Given the description of an element on the screen output the (x, y) to click on. 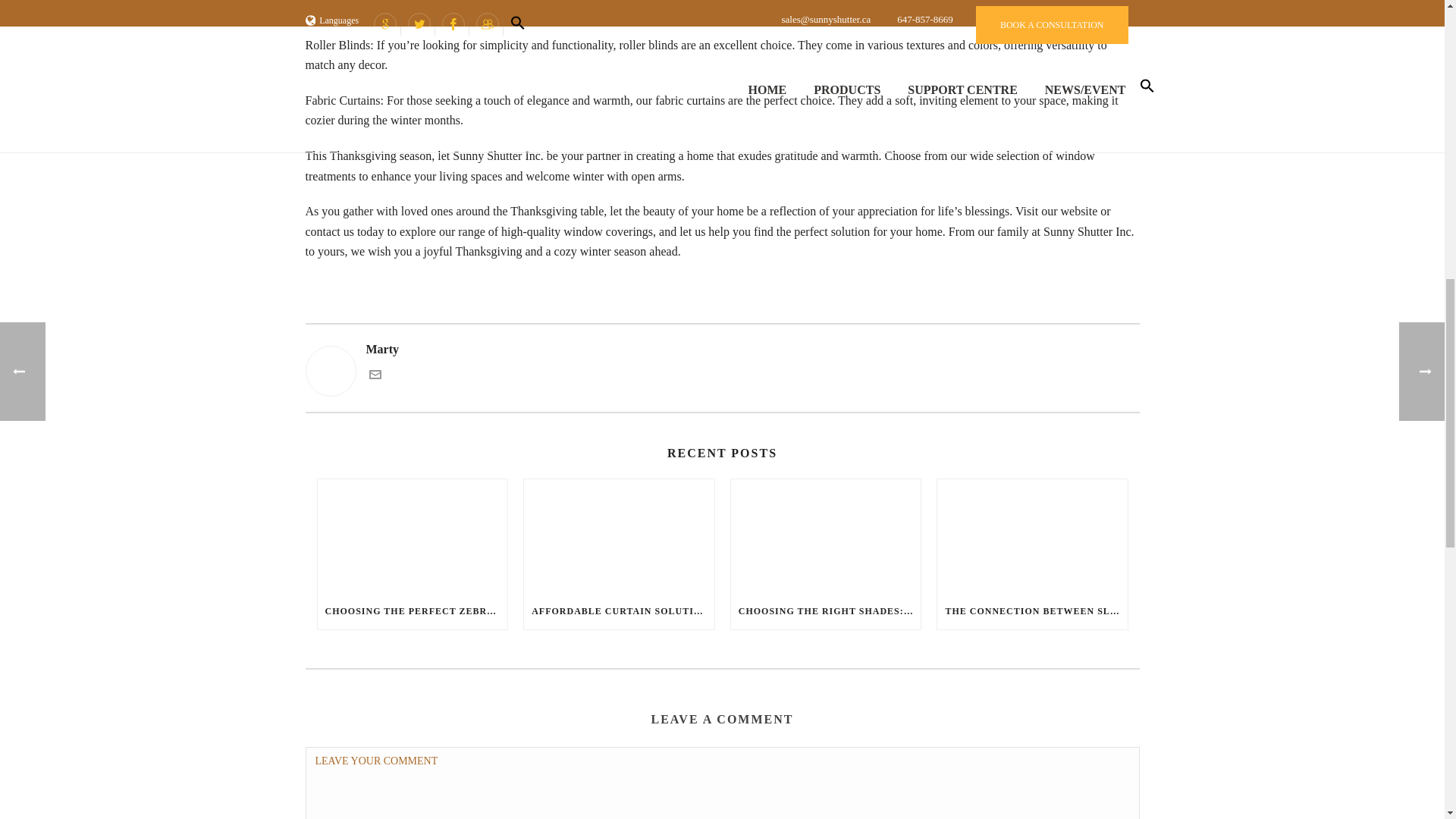
Affordable Curtain Solutions in Toronto: Sunny Shutter Inc. (619, 535)
Choosing the Perfect Zebra Blinds for Your Toronto Bathroom (411, 535)
Get in touch with me via email (374, 376)
